Given the description of an element on the screen output the (x, y) to click on. 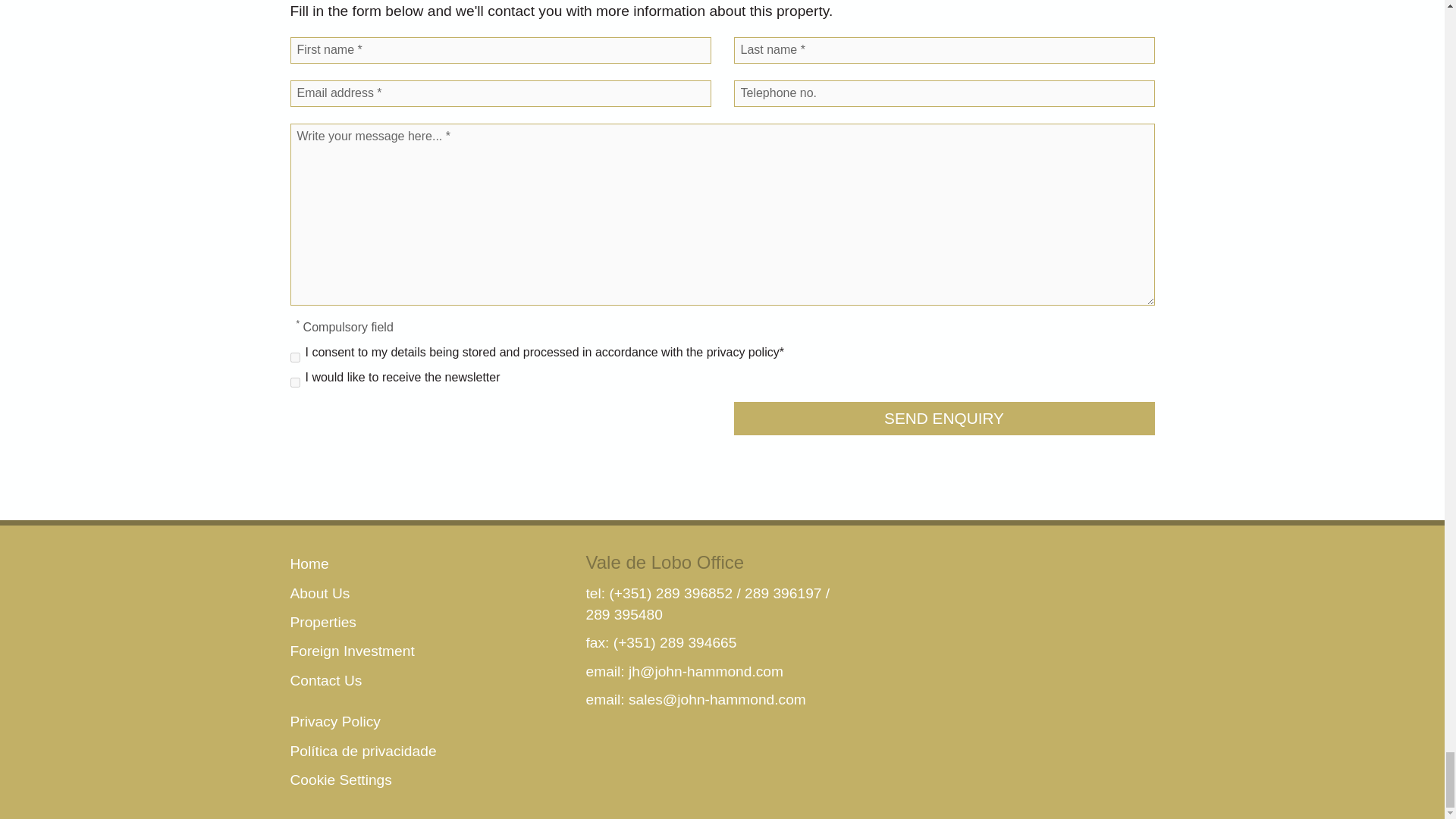
Properties (322, 621)
About Us (319, 593)
on (294, 382)
SEND ENQUIRY (943, 418)
Home (309, 563)
on (294, 357)
